Given the description of an element on the screen output the (x, y) to click on. 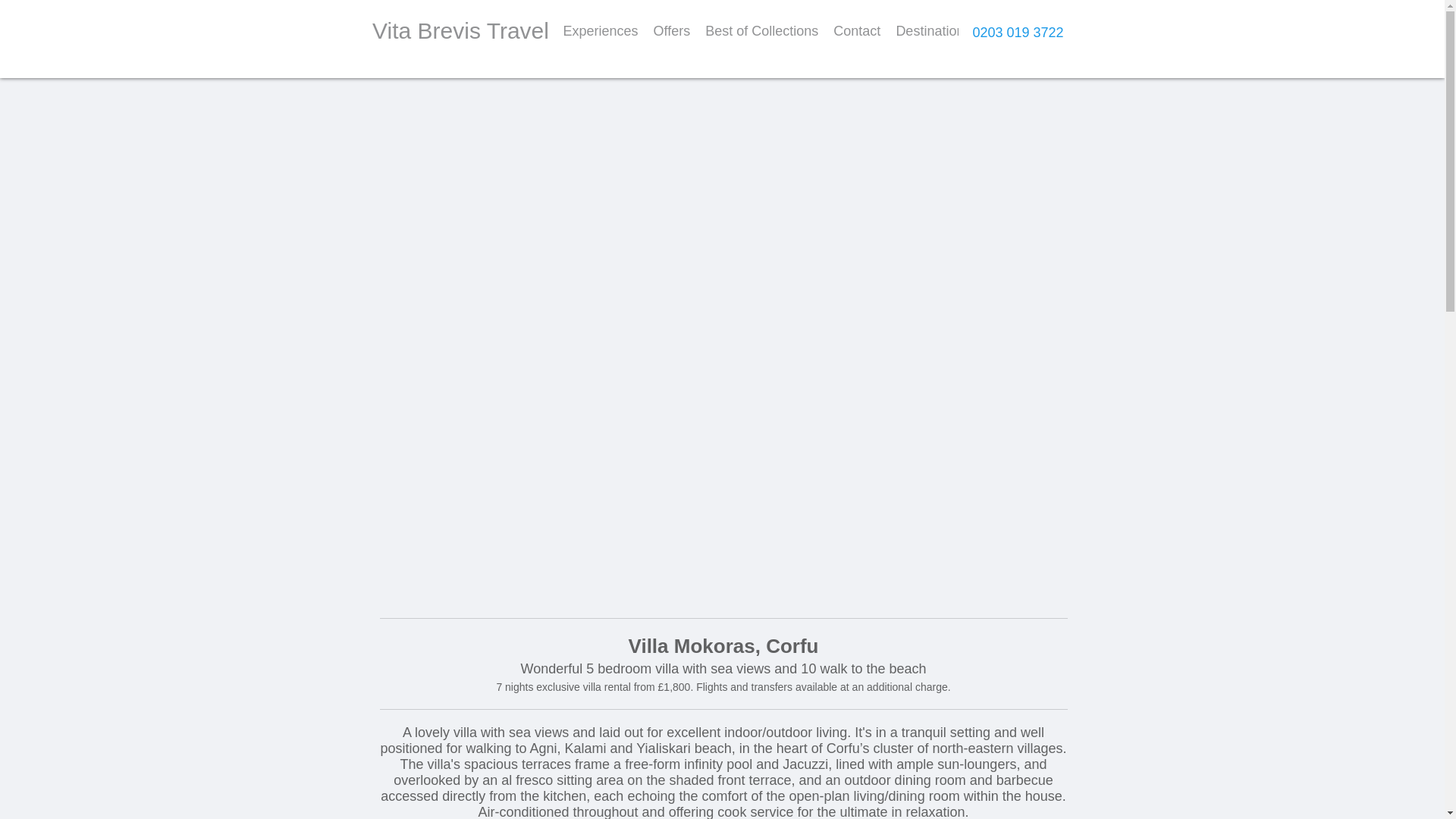
Offers (672, 33)
Contact (856, 33)
Experiences (599, 33)
Destinations (933, 33)
Vita Brevis Travel (460, 30)
Best of Collections (761, 33)
